Given the description of an element on the screen output the (x, y) to click on. 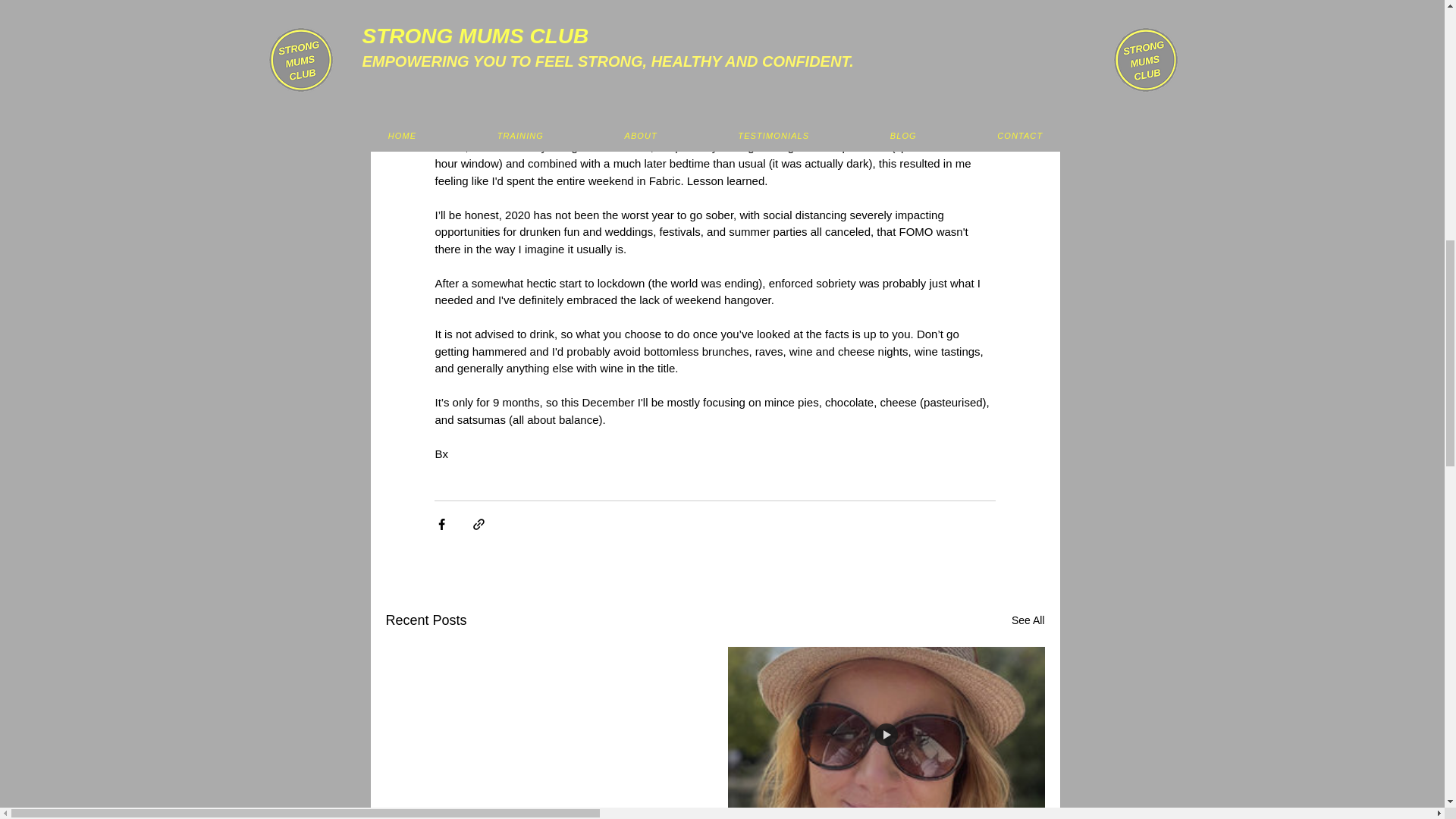
See All (1028, 620)
